Given the description of an element on the screen output the (x, y) to click on. 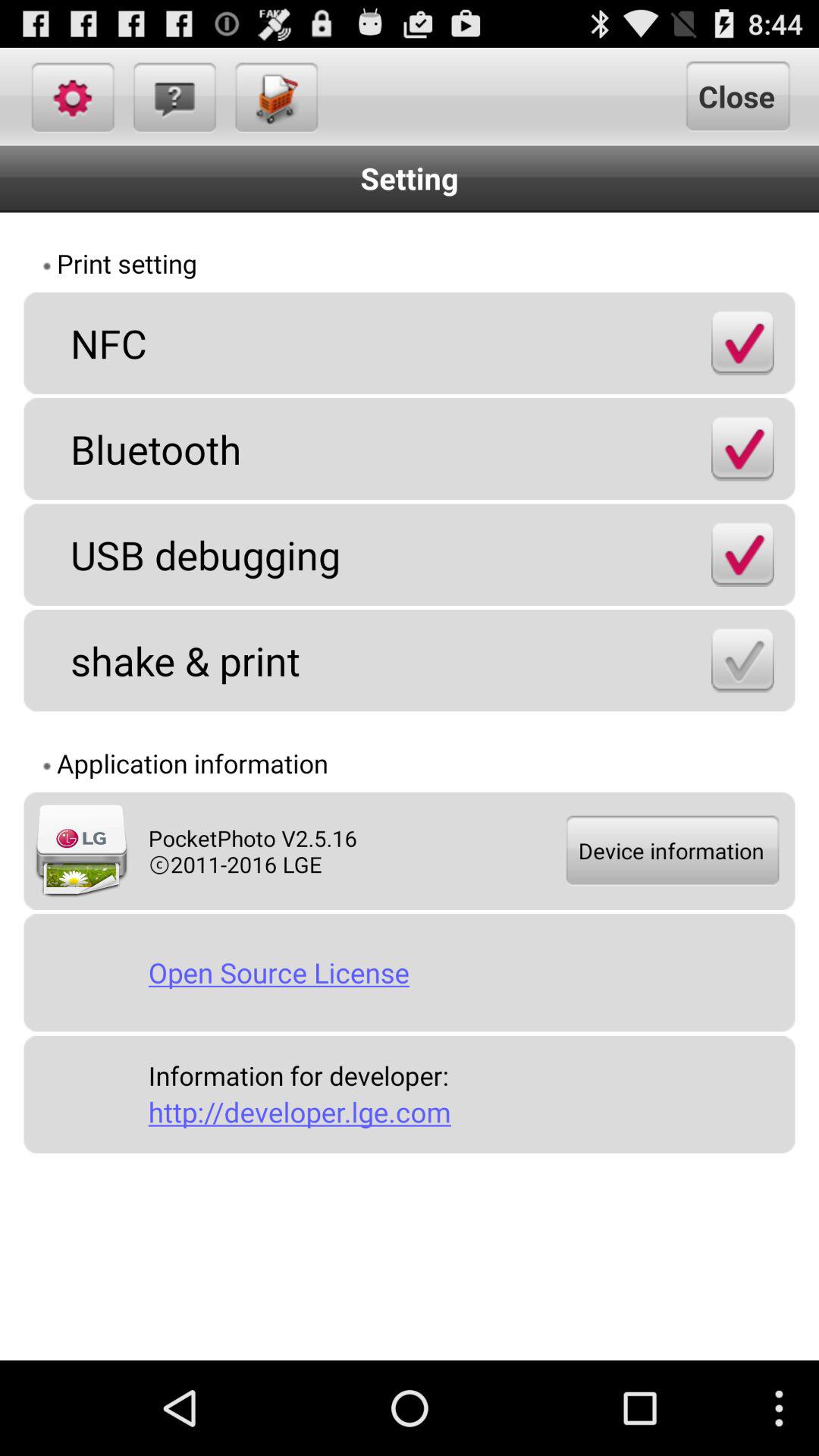
toggle shake print option (742, 659)
